Given the description of an element on the screen output the (x, y) to click on. 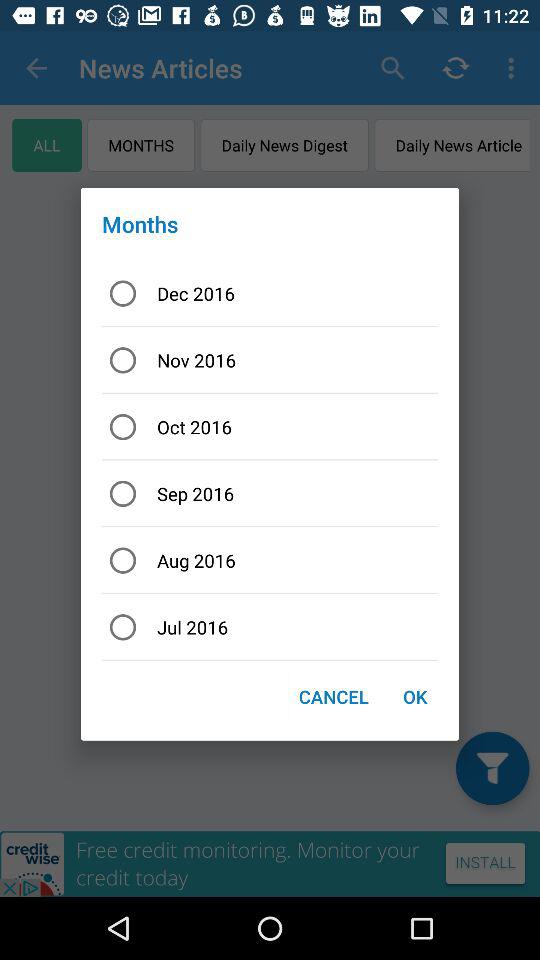
choose the icon below the aug 2016 icon (269, 626)
